Given the description of an element on the screen output the (x, y) to click on. 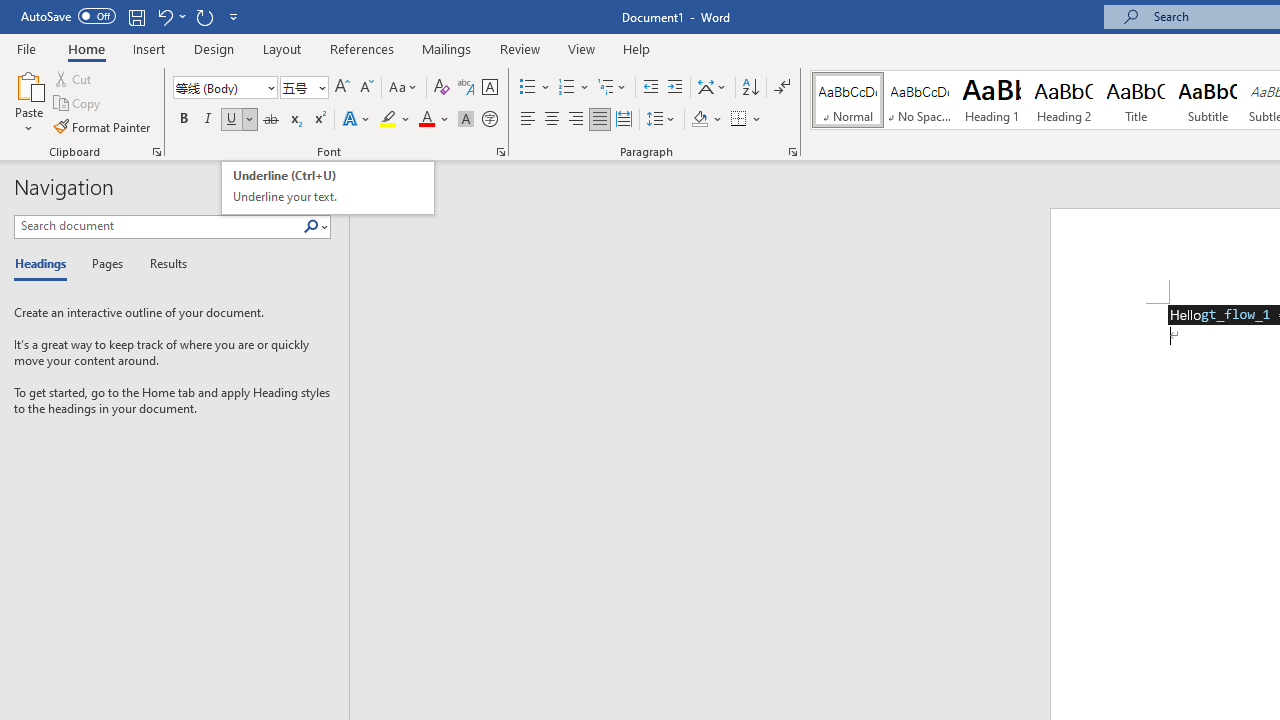
Undo Underline Style (164, 15)
